Given the description of an element on the screen output the (x, y) to click on. 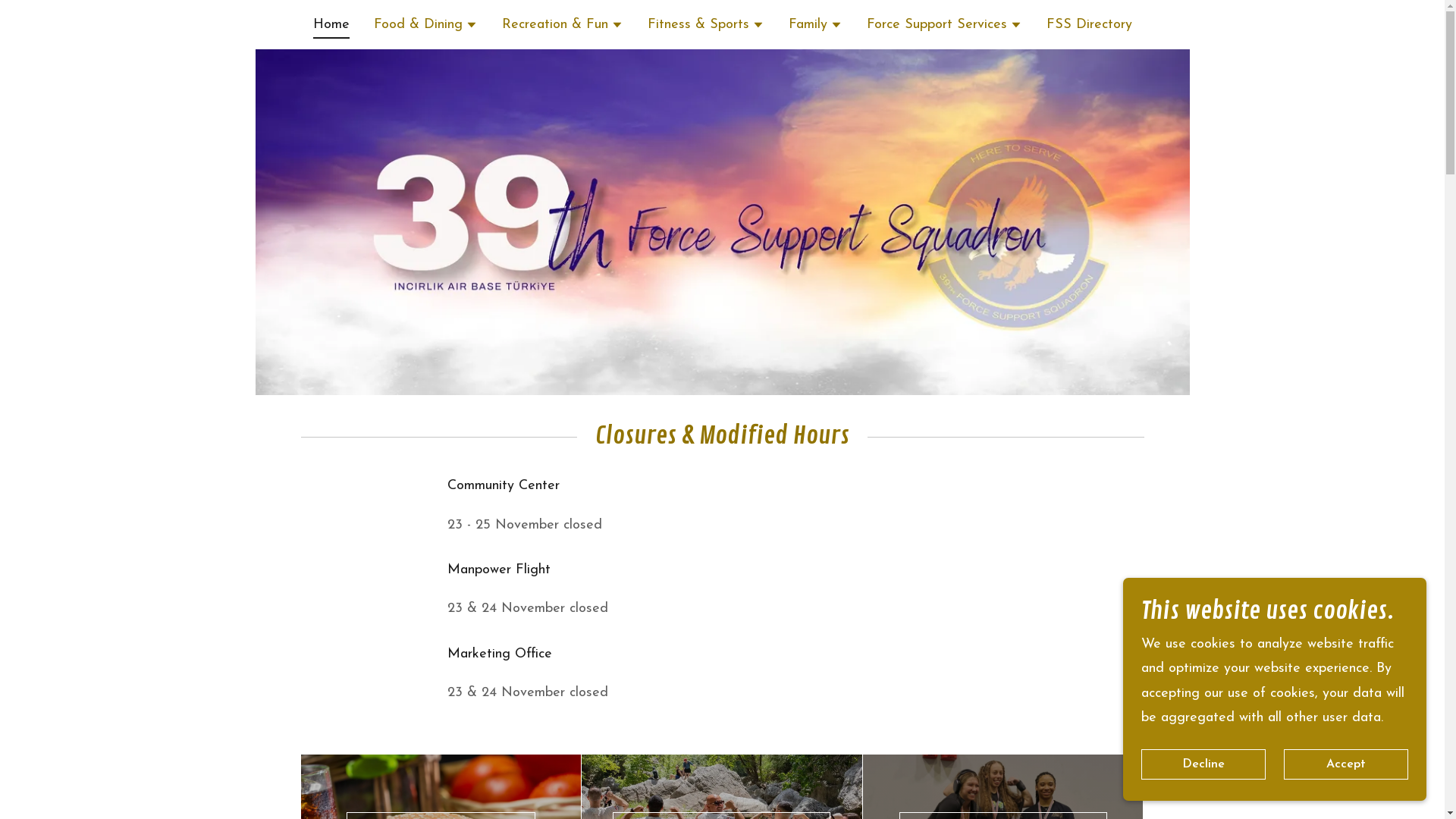
Food & Dining Element type: text (424, 26)
Fitness & Sports Element type: text (705, 26)
Decline Element type: text (1203, 764)
Recreation & Fun Element type: text (562, 26)
Accept Element type: text (1345, 764)
FSS Directory Element type: text (1088, 24)
Force Support Services Element type: text (943, 26)
Home Element type: text (330, 26)
Family Element type: text (815, 26)
